Given the description of an element on the screen output the (x, y) to click on. 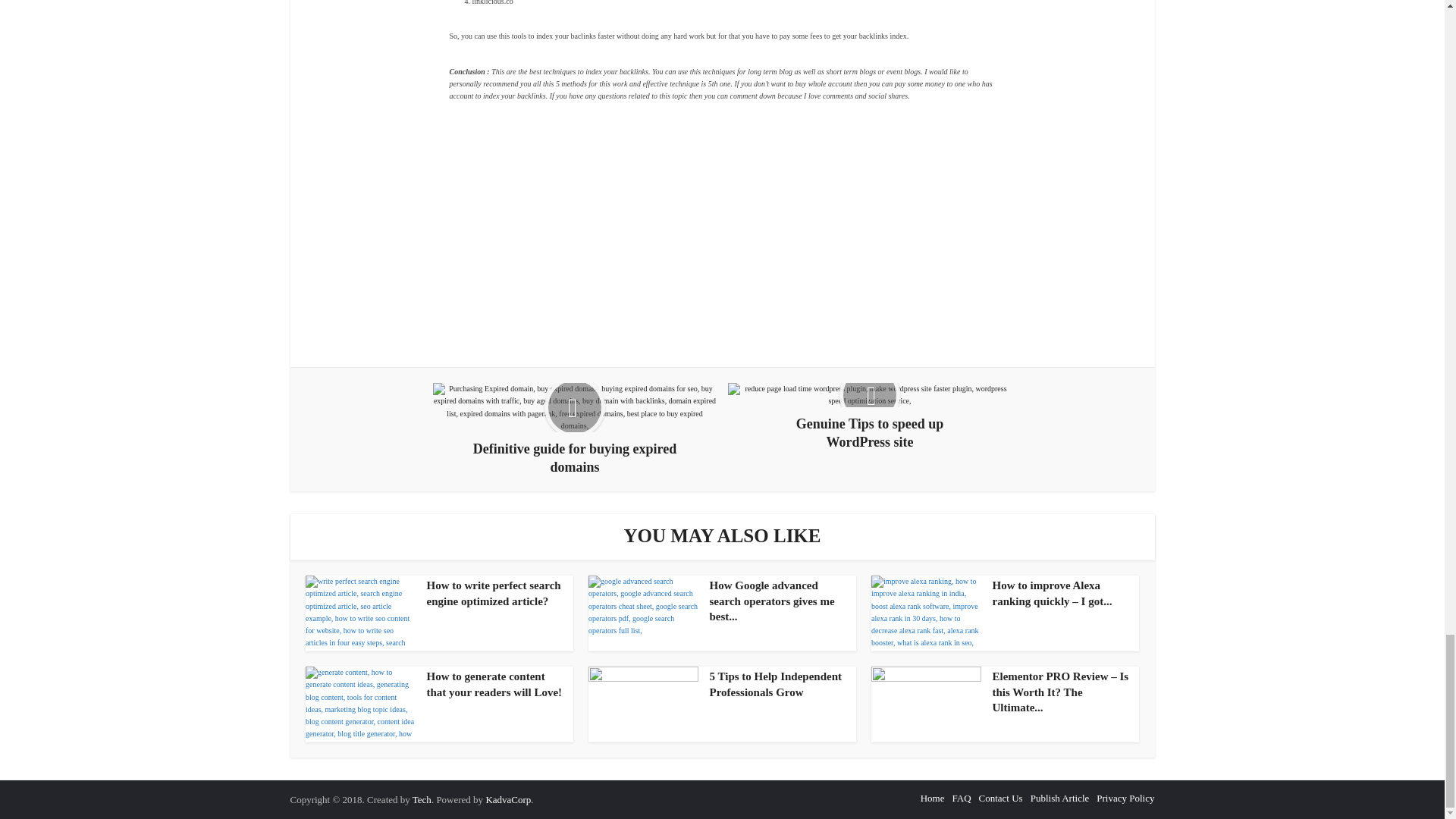
Genuine Tips to speed up WordPress site (869, 417)
How to generate content that your readers will Love! (494, 683)
FAQ (961, 797)
How Google advanced search operators gives me best... (772, 600)
How to generate content that your readers will Love! (494, 683)
KadvaCorp (507, 799)
5 Tips to Help Independent Professionals Grow (776, 683)
How to write perfect search engine optimized article? (493, 592)
Home (932, 797)
Publish Article (1059, 797)
